Given the description of an element on the screen output the (x, y) to click on. 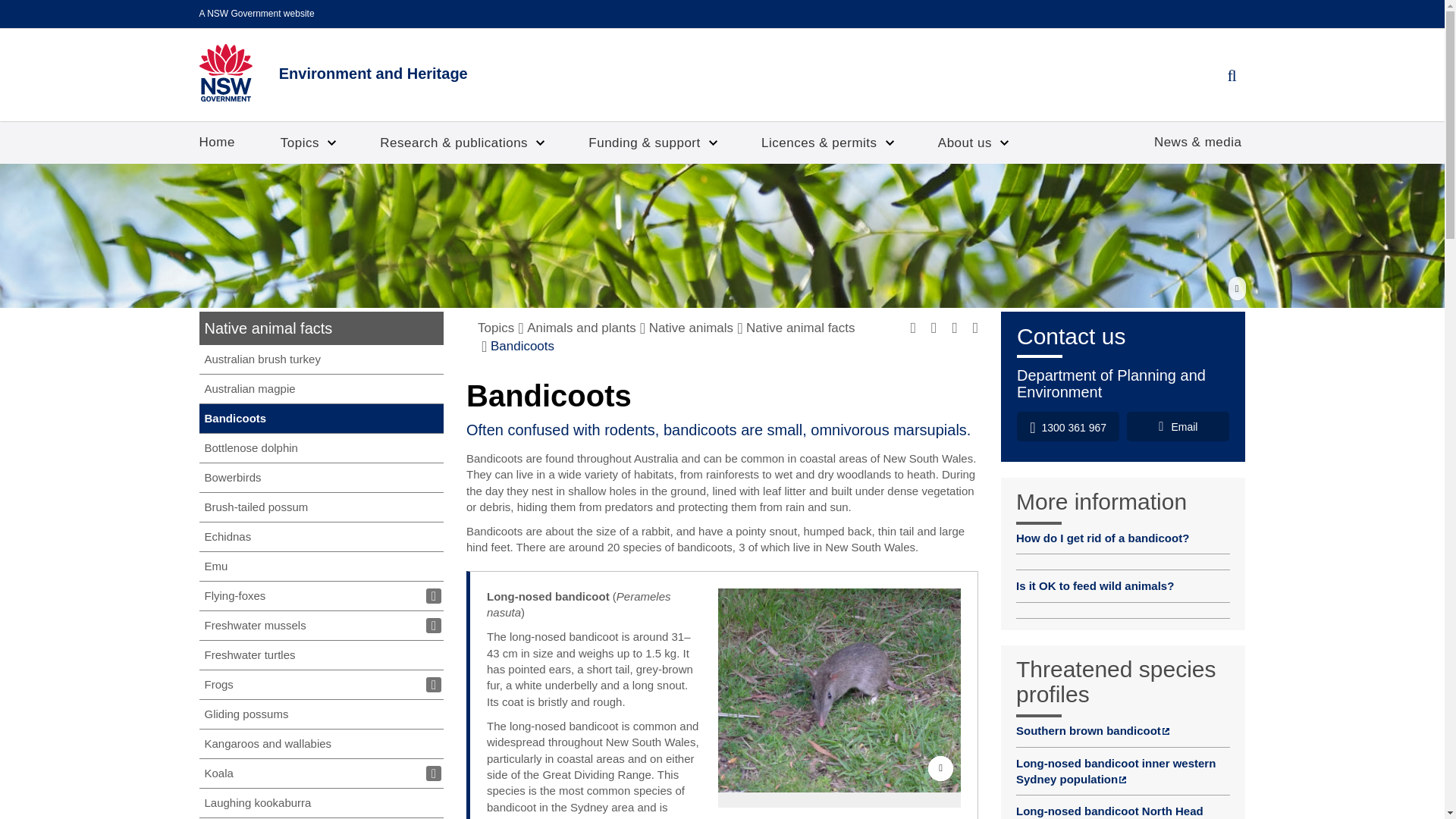
Topics (306, 142)
Show search overlay (1230, 76)
Skip to main content (10, 3)
Environment and Heritage (332, 72)
Home (216, 142)
